Given the description of an element on the screen output the (x, y) to click on. 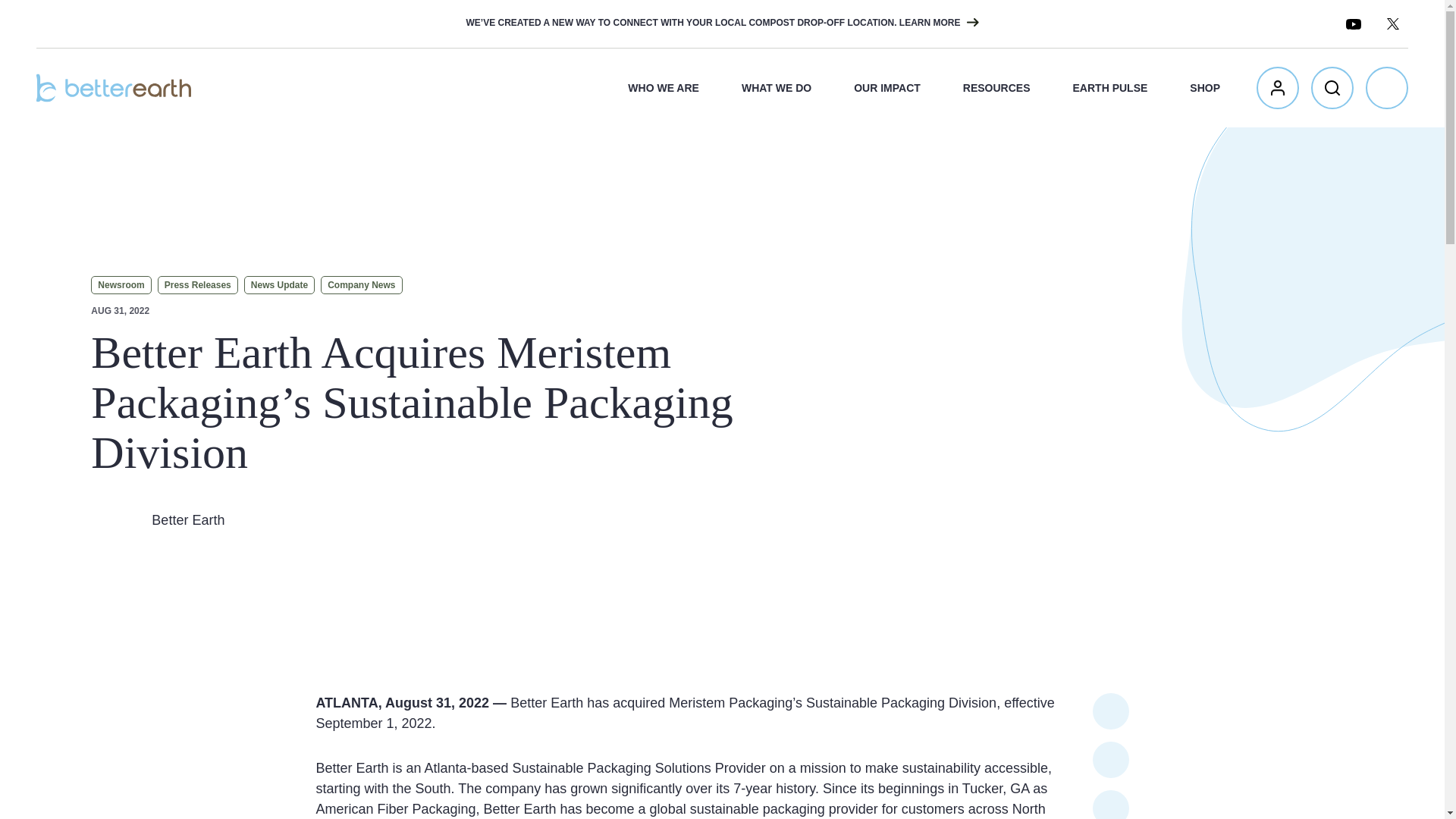
WHAT WE DO (775, 88)
Instagram (1235, 24)
Tweet (1111, 710)
OUR IMPACT (886, 88)
Share on Facebook (1111, 760)
Facebook (1313, 24)
LinkedIn (1274, 24)
Better Earth (113, 87)
YouTube (1353, 24)
WHO WE ARE (662, 88)
Share on LinkedIn (1111, 804)
RESOURCES (996, 88)
Better Earth (113, 87)
Twitter (1392, 24)
